Given the description of an element on the screen output the (x, y) to click on. 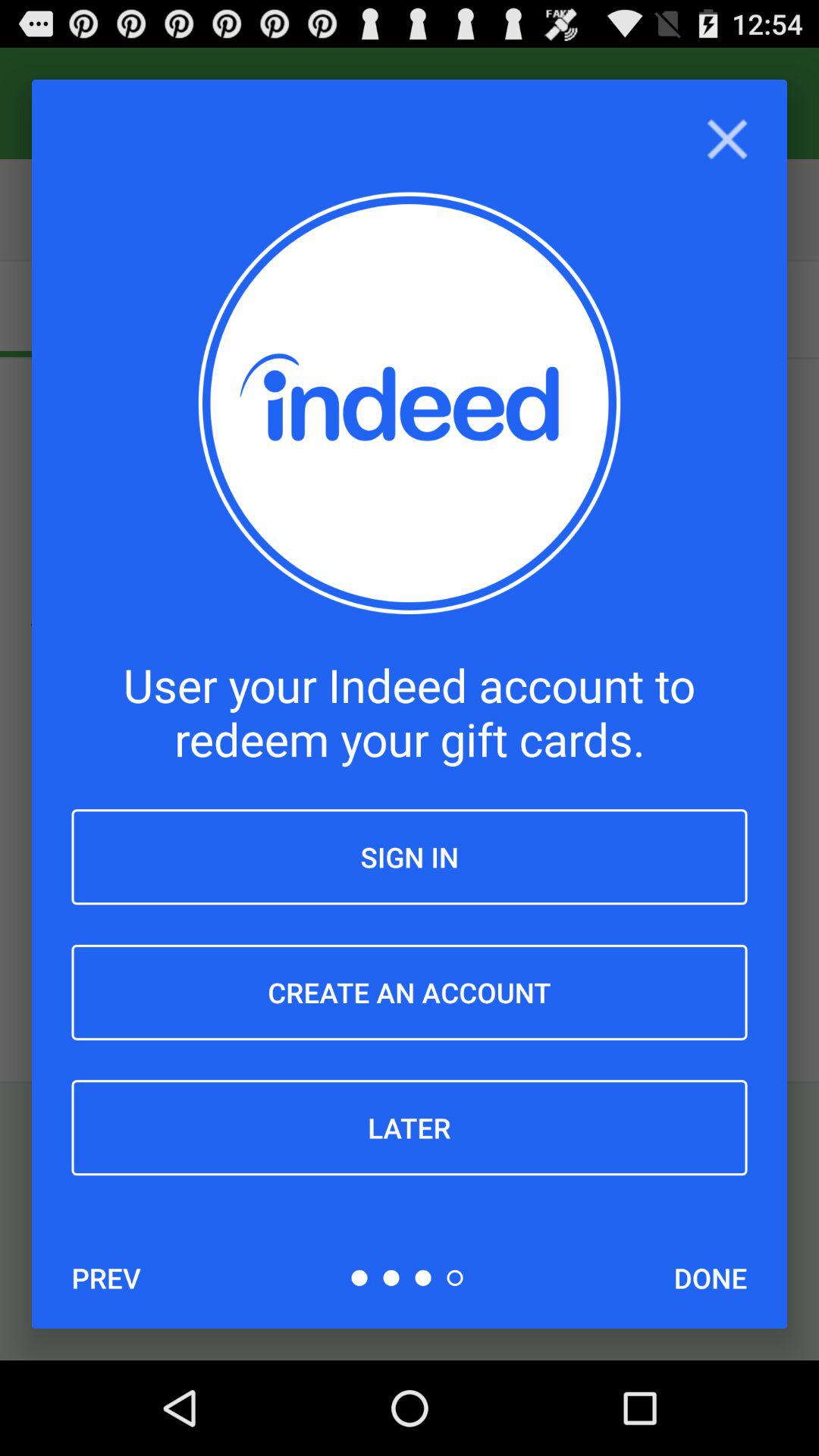
scroll until later item (409, 1127)
